Given the description of an element on the screen output the (x, y) to click on. 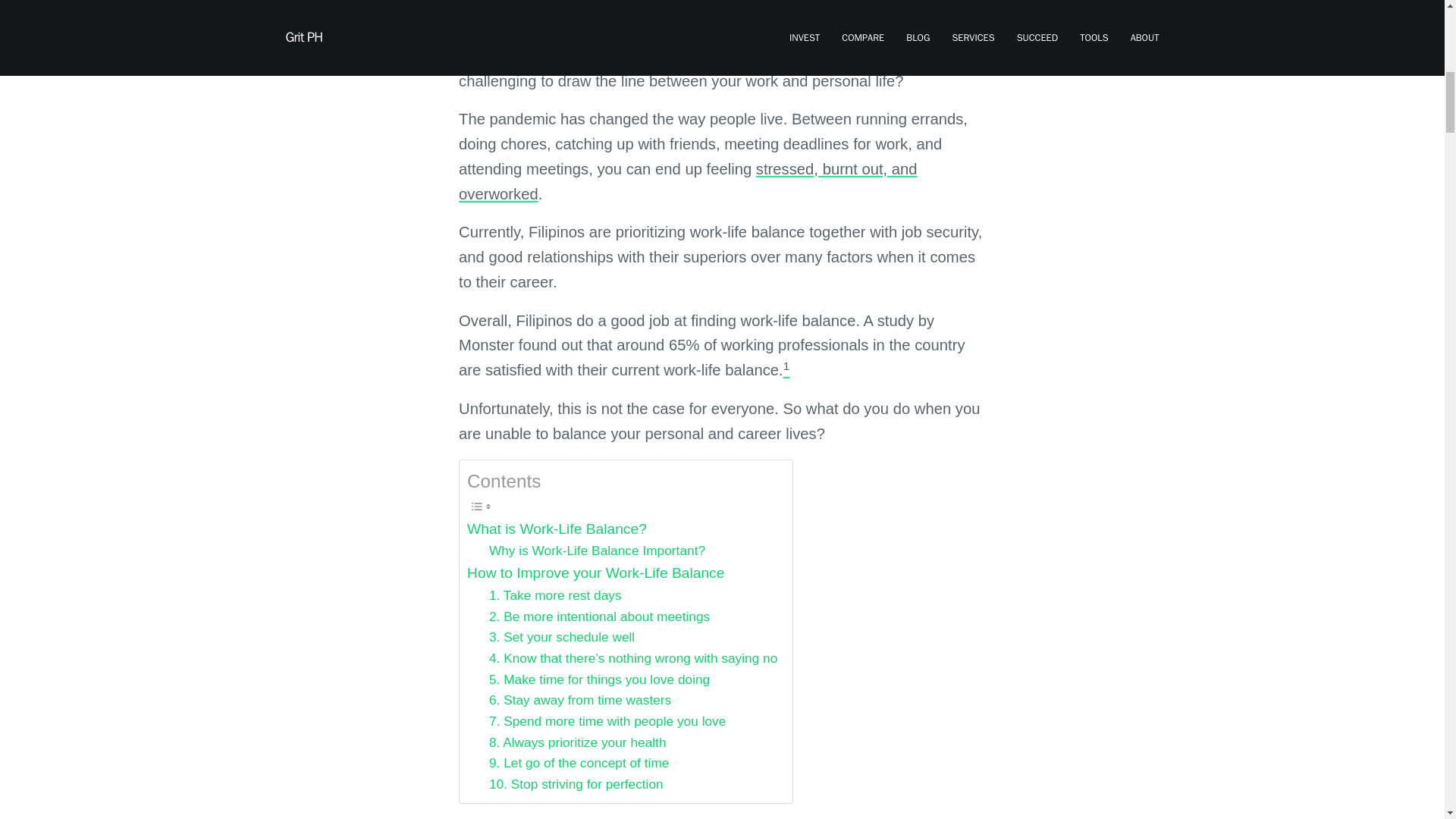
3. Set your schedule well (561, 637)
How to Improve your Work-Life Balance (595, 573)
What is Work-Life Balance? (556, 529)
1. Take more rest days (555, 595)
5. Make time for things you love doing (599, 680)
2. Be more intentional about meetings (599, 617)
Why is Work-Life Balance Important? (596, 550)
